Given the description of an element on the screen output the (x, y) to click on. 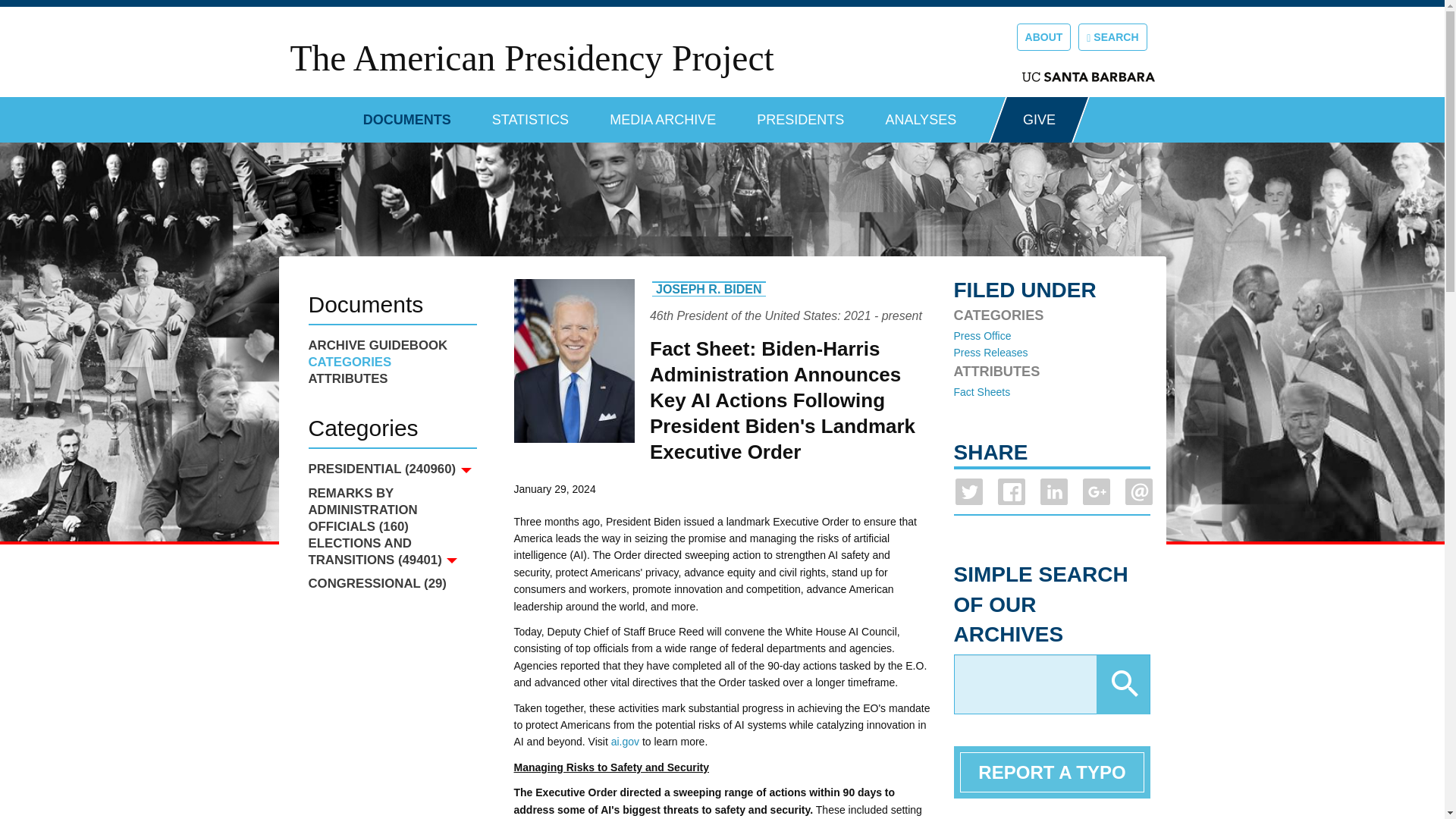
ABOUT (1043, 36)
MEDIA ARCHIVE (663, 113)
DOCUMENTS (406, 113)
CATEGORIES (391, 362)
ARCHIVE GUIDEBOOK (391, 345)
The American Presidency Project (531, 57)
STATISTICS (530, 113)
ATTRIBUTES (391, 379)
GIVE (1038, 119)
 SEARCH (1112, 36)
PRESIDENTS (800, 113)
ANALYSES (920, 113)
